Given the description of an element on the screen output the (x, y) to click on. 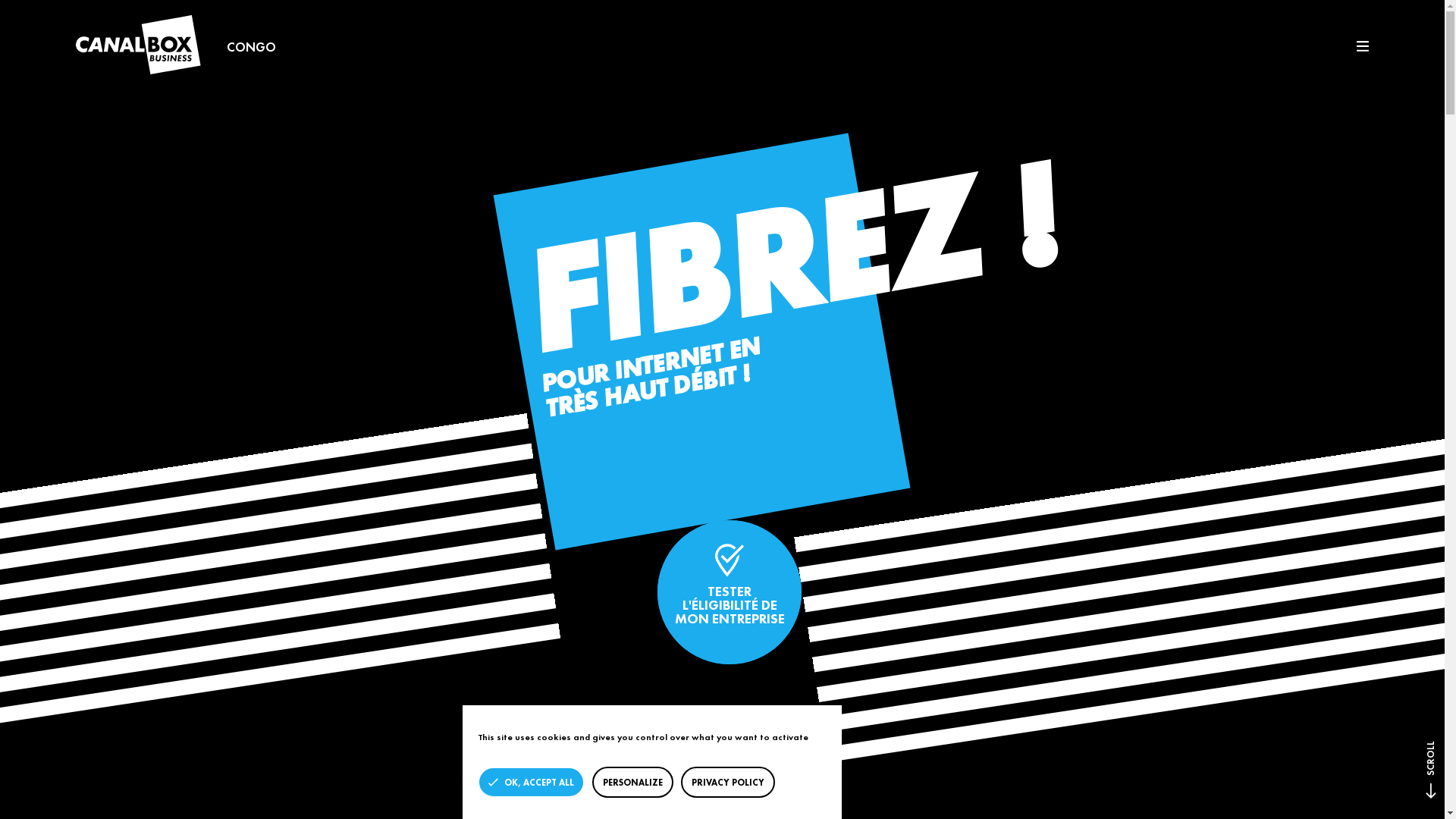
PERSONALIZE Element type: text (632, 781)
PRIVACY POLICY Element type: text (727, 781)
OK, ACCEPT ALL Element type: text (530, 781)
